Given the description of an element on the screen output the (x, y) to click on. 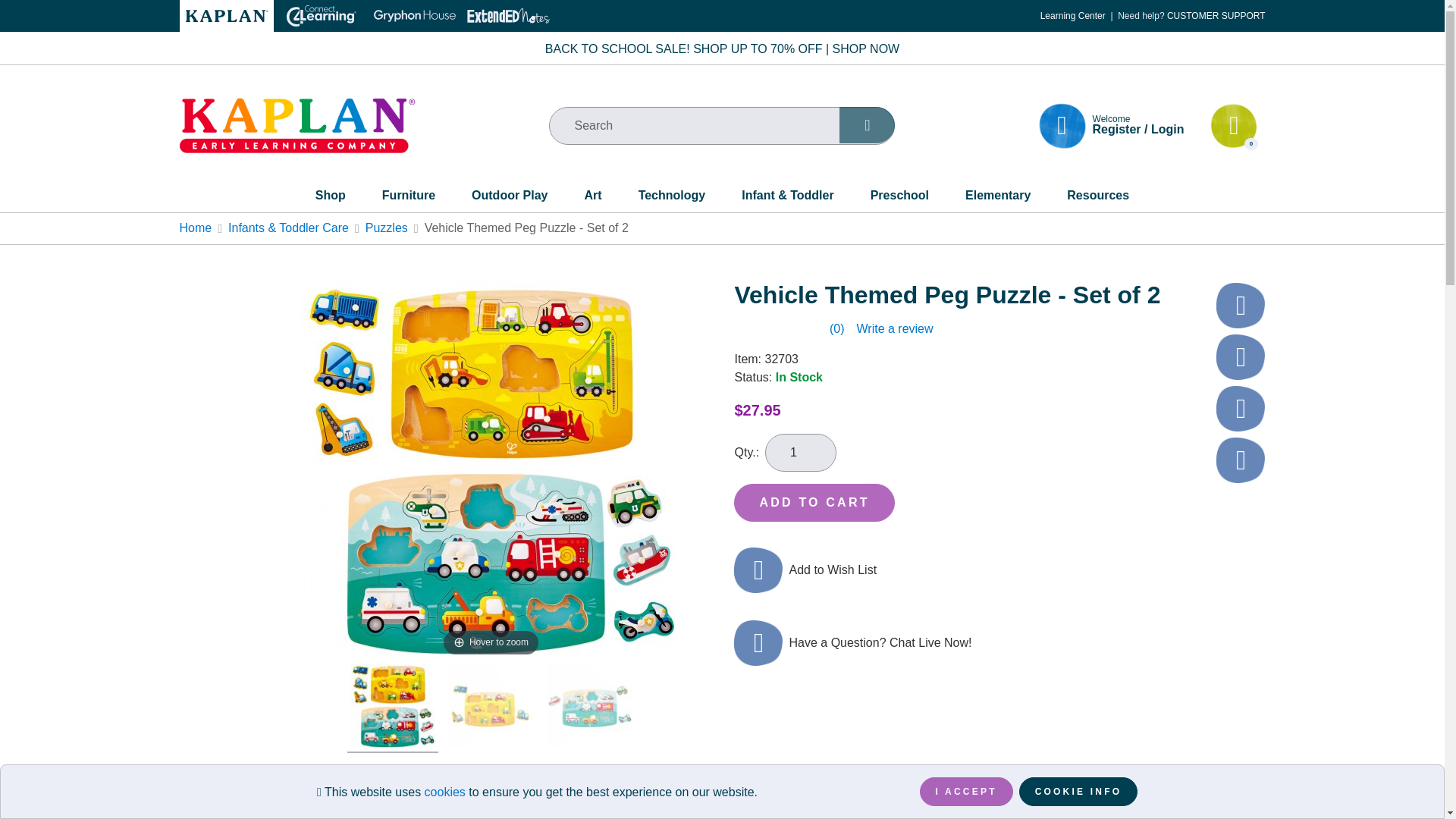
1 (800, 452)
CUSTOMER SUPPORT (1216, 15)
Learning Center (1073, 15)
Share on Pinterest (1240, 356)
Shop (330, 199)
0 (1233, 126)
